Given the description of an element on the screen output the (x, y) to click on. 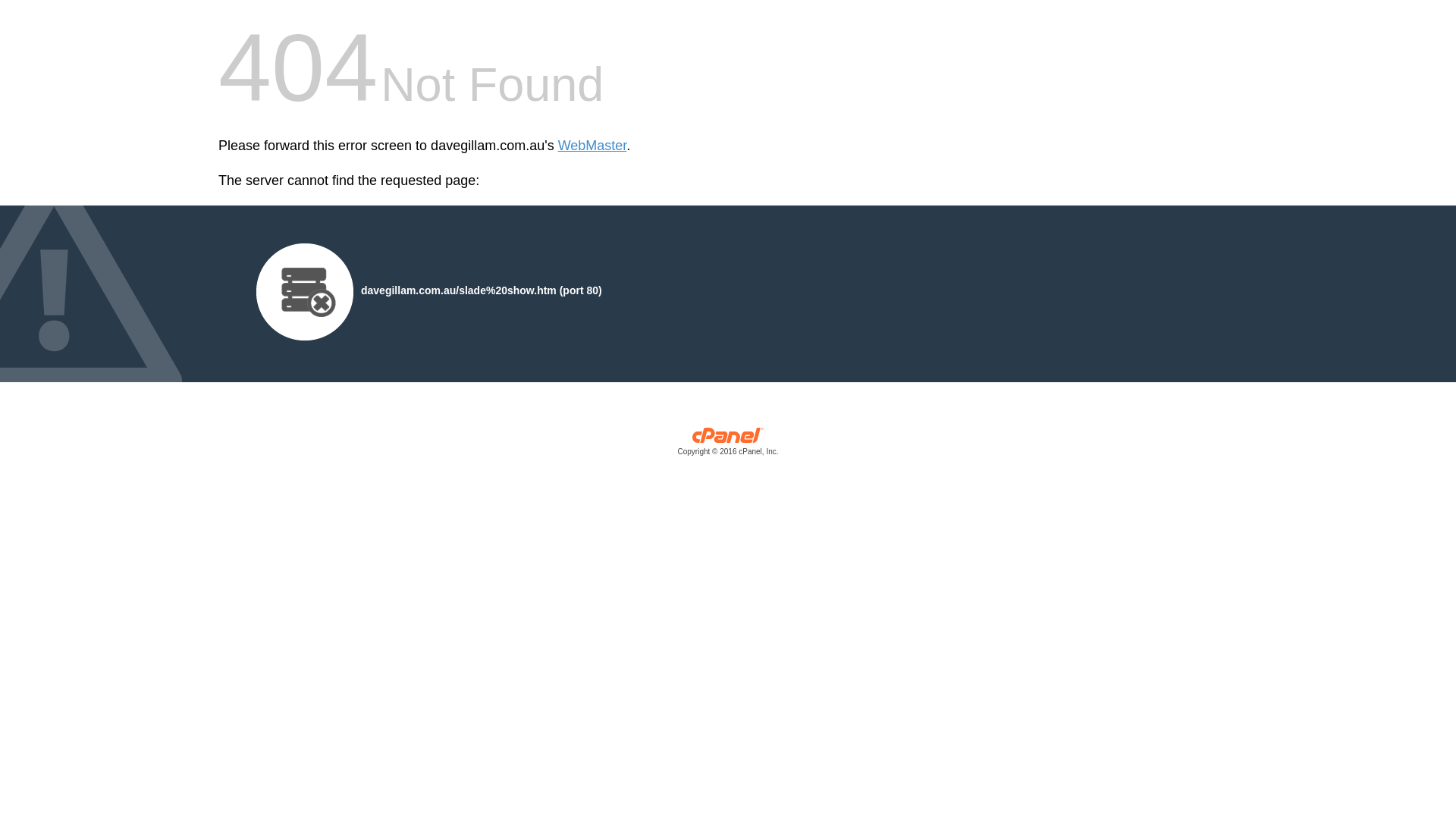
WebMaster Element type: text (592, 145)
